Given the description of an element on the screen output the (x, y) to click on. 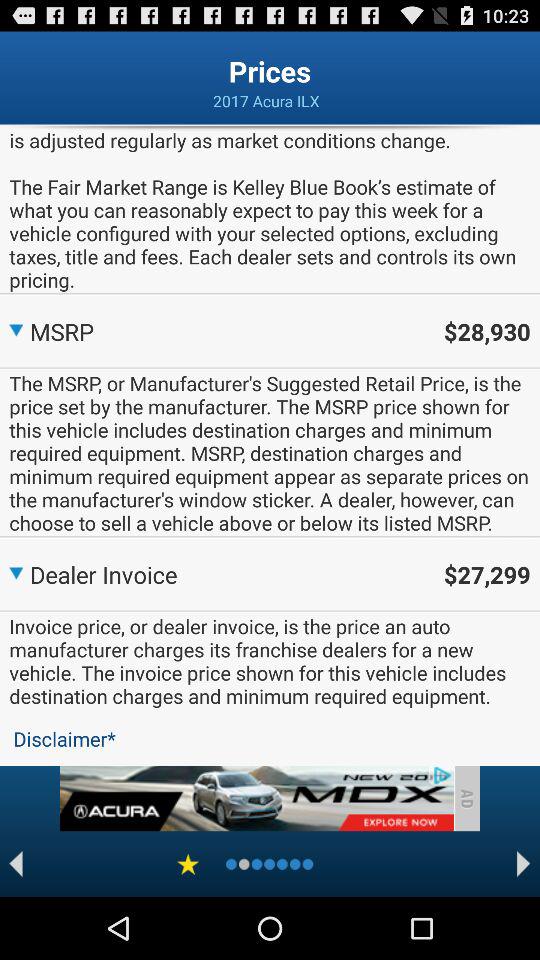
to evaluate (188, 864)
